Given the description of an element on the screen output the (x, y) to click on. 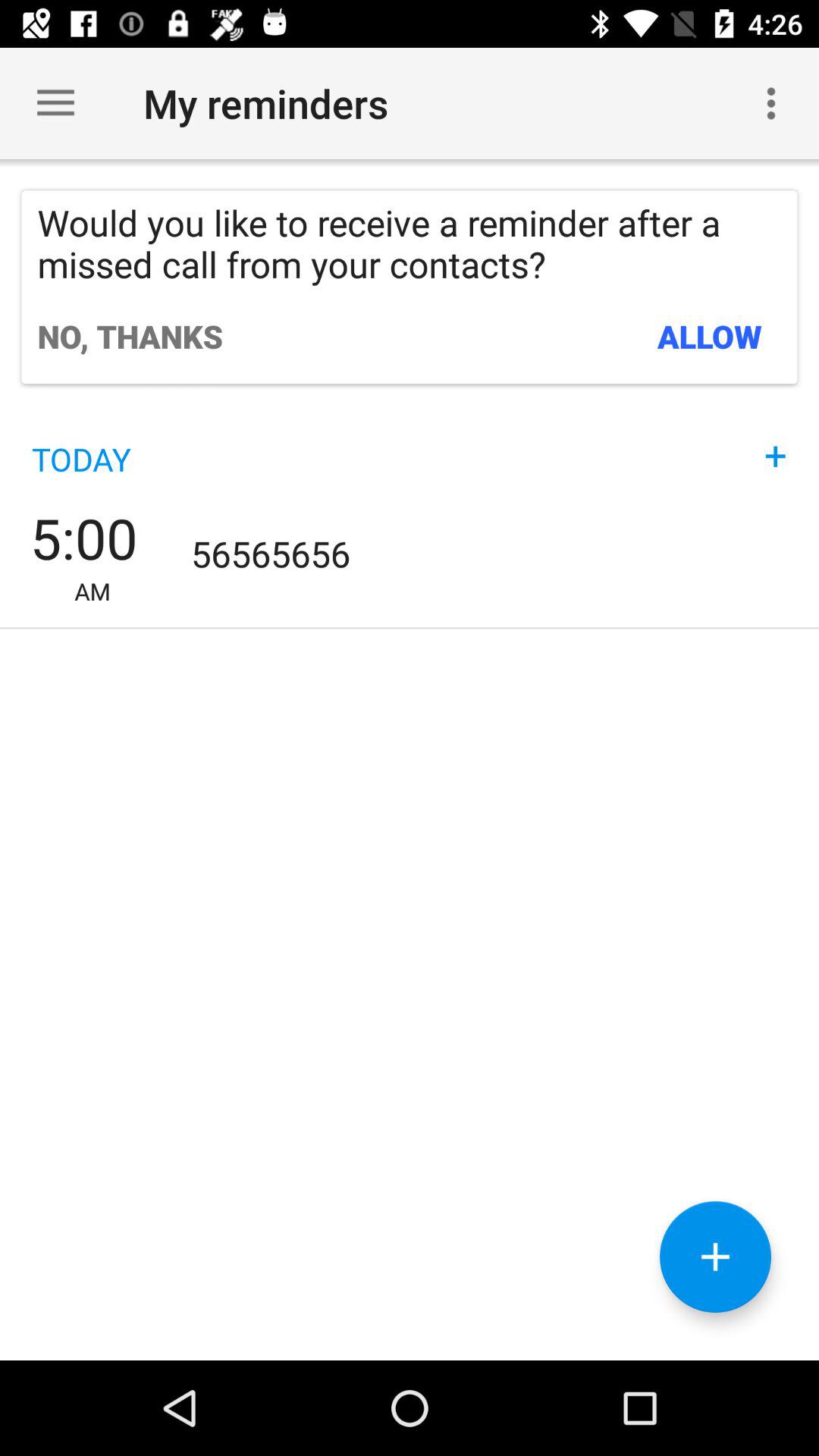
tap allow icon (709, 335)
